Given the description of an element on the screen output the (x, y) to click on. 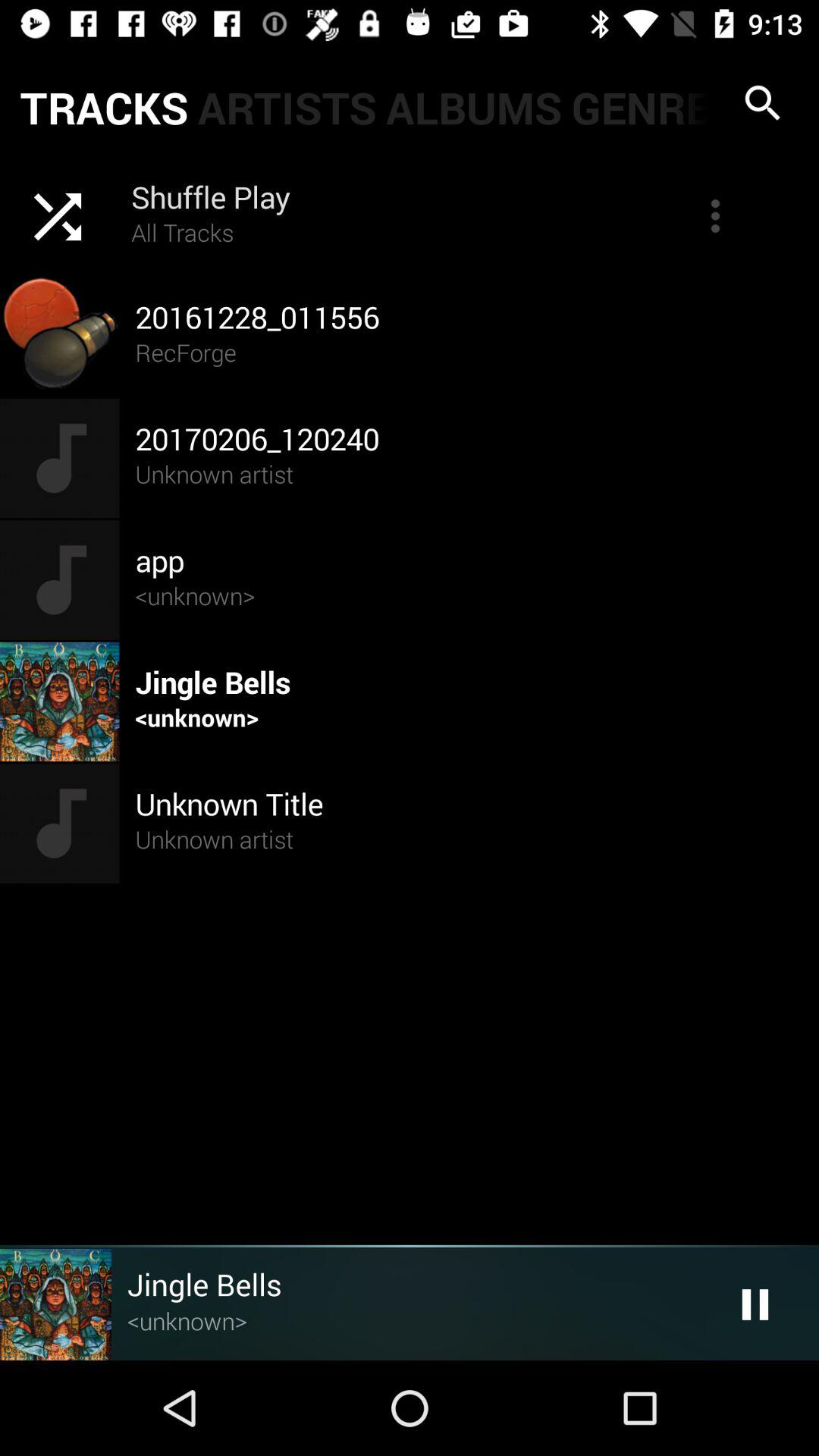
go to play (755, 1304)
